Given the description of an element on the screen output the (x, y) to click on. 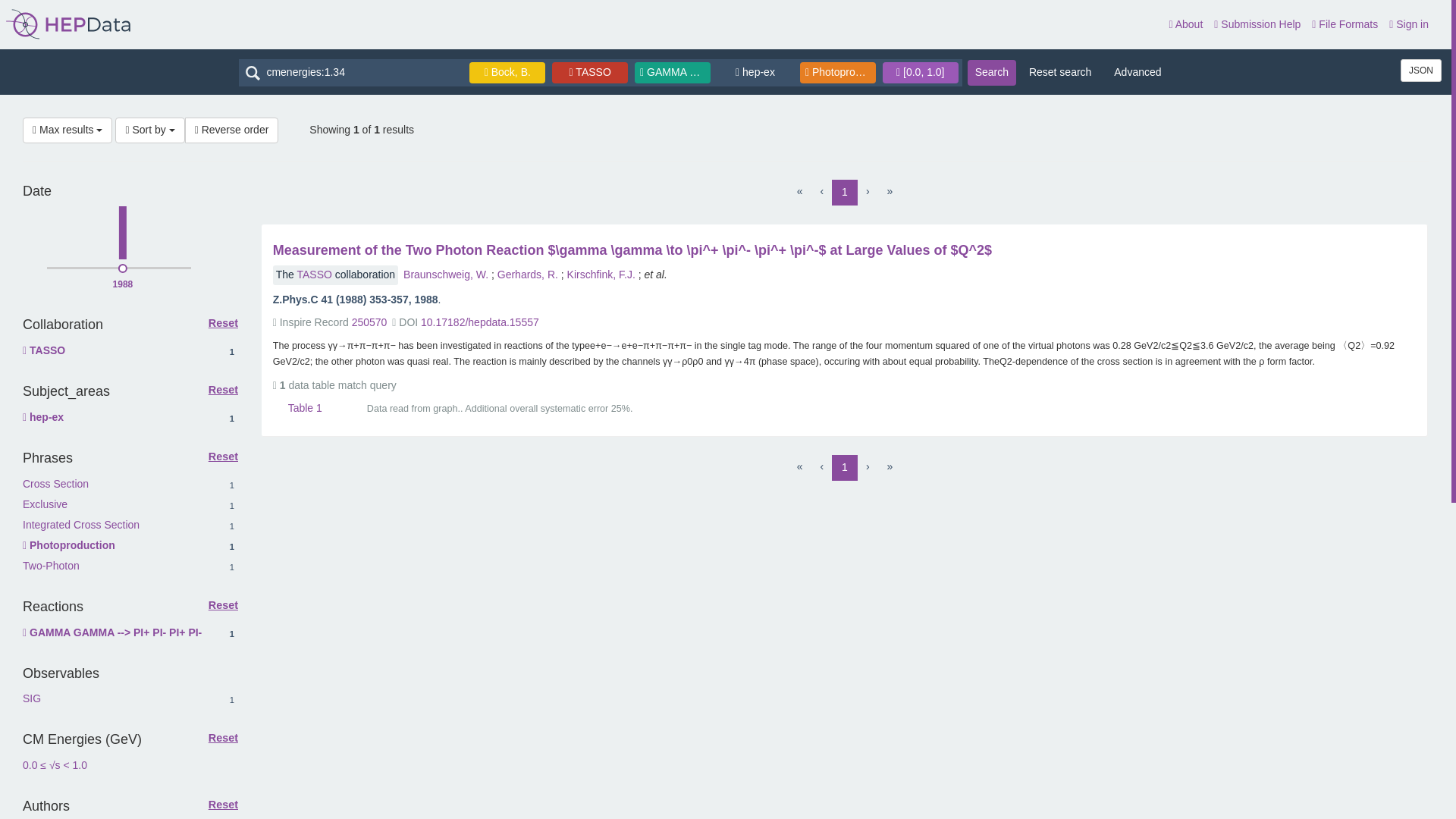
Reset (81, 524)
cmenergies:1.34 (223, 323)
hep-ex (351, 72)
JSON (758, 71)
Get search results in JSON format (1420, 69)
prev (1420, 69)
DOI (821, 467)
next (479, 322)
File Formats (868, 191)
Sign in (1344, 24)
Reset search (1408, 24)
Reset (1059, 72)
Search (223, 390)
About (992, 71)
